Given the description of an element on the screen output the (x, y) to click on. 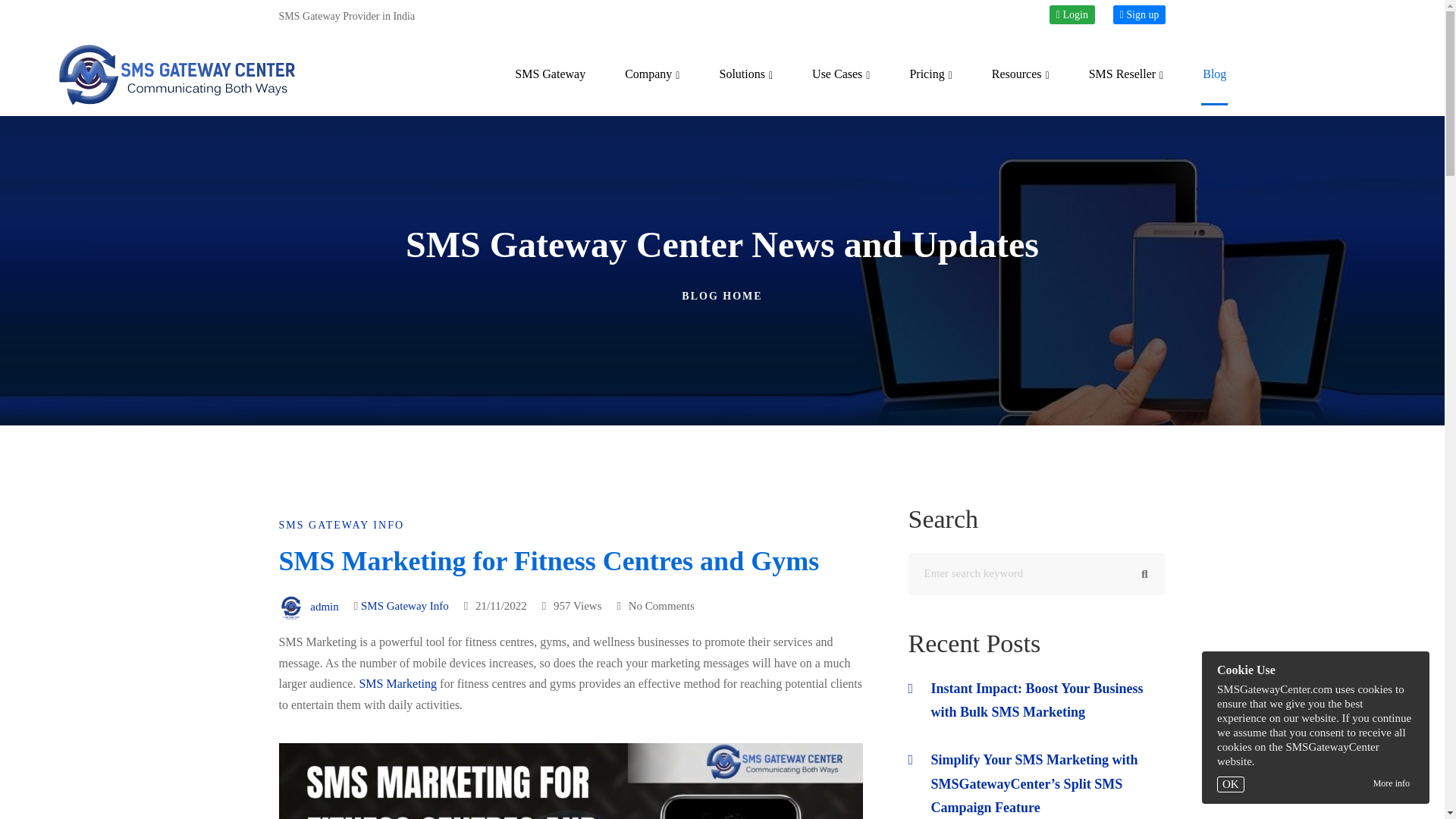
SMS Gateway Center (549, 74)
Login (1071, 14)
More info (1390, 783)
SMS Gateway (549, 74)
Solutions (745, 74)
Sign up (1139, 14)
OK (1230, 784)
Use Cases (840, 74)
Login (1071, 14)
Sign up (1139, 14)
SMS Communication Services (745, 74)
Company (652, 74)
SMS Gateway Center (177, 75)
